Given the description of an element on the screen output the (x, y) to click on. 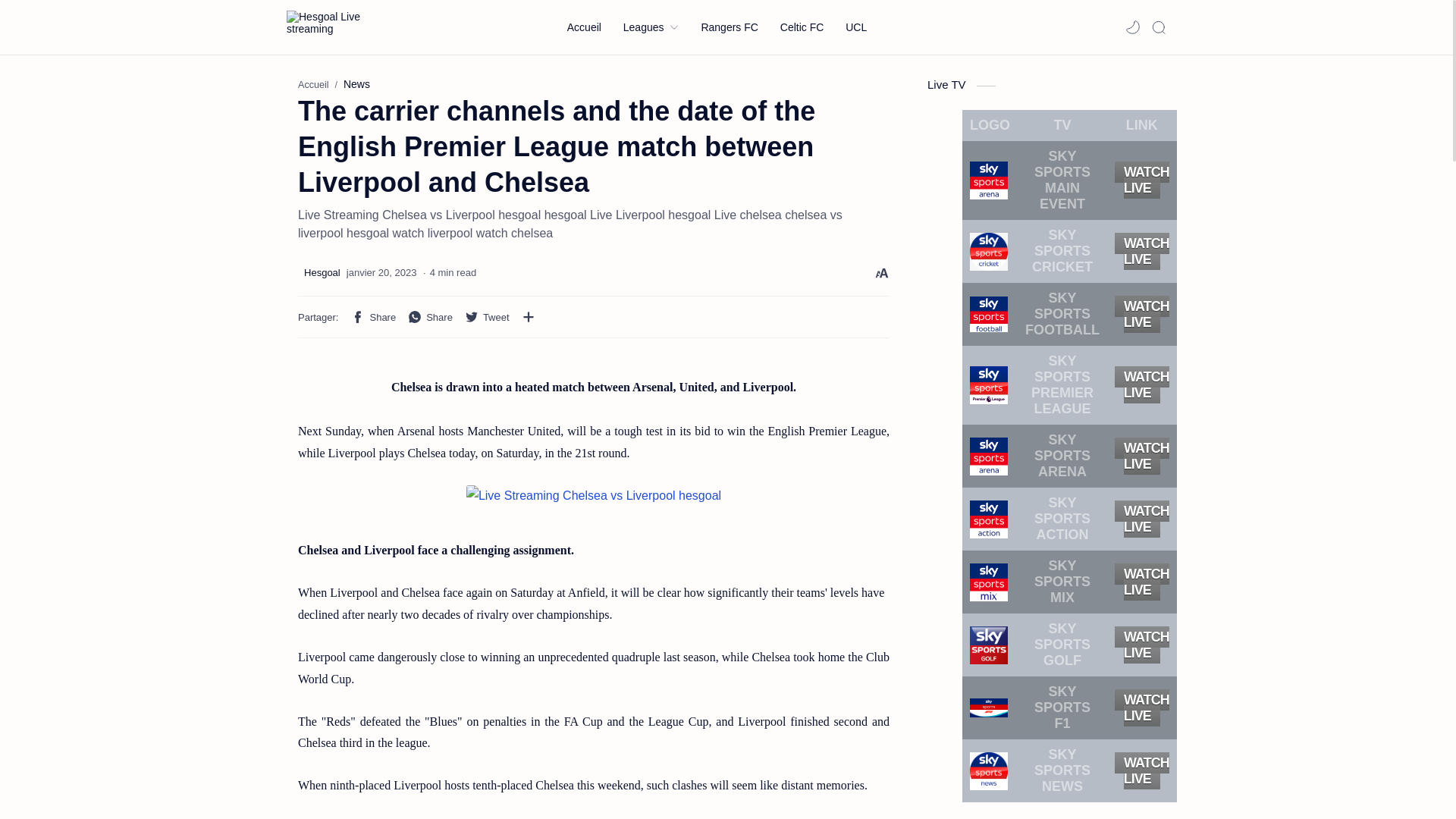
Accueil (313, 84)
Live Streaming Chelsea vs Liverpool hesgoal (592, 495)
Celtic FC (802, 27)
Published: janvier 20, 2023 (381, 272)
Accueil (584, 27)
UCL (855, 27)
Rangers FC (728, 27)
News (356, 83)
